Given the description of an element on the screen output the (x, y) to click on. 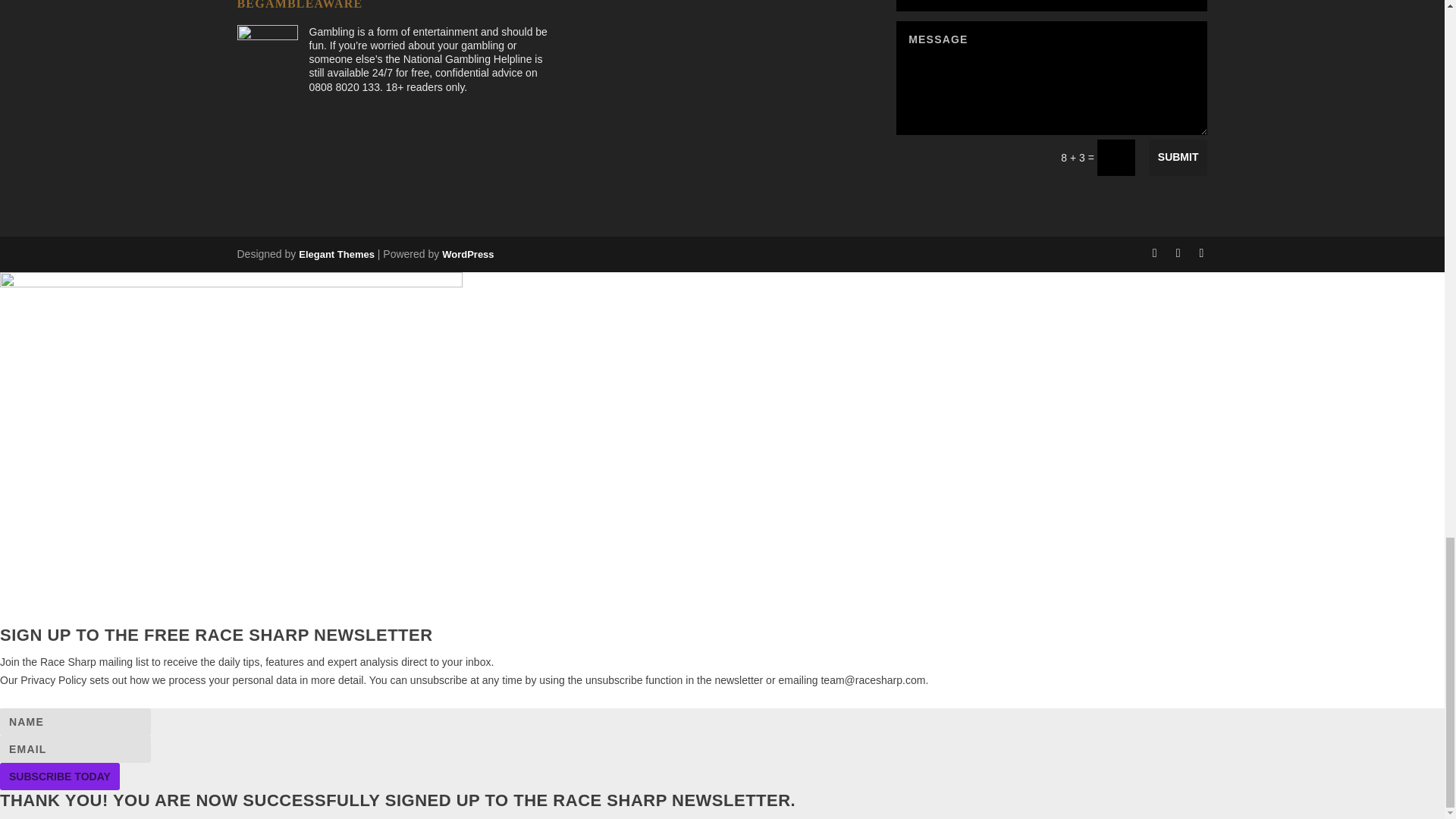
Premium WordPress Themes (336, 254)
